Given the description of an element on the screen output the (x, y) to click on. 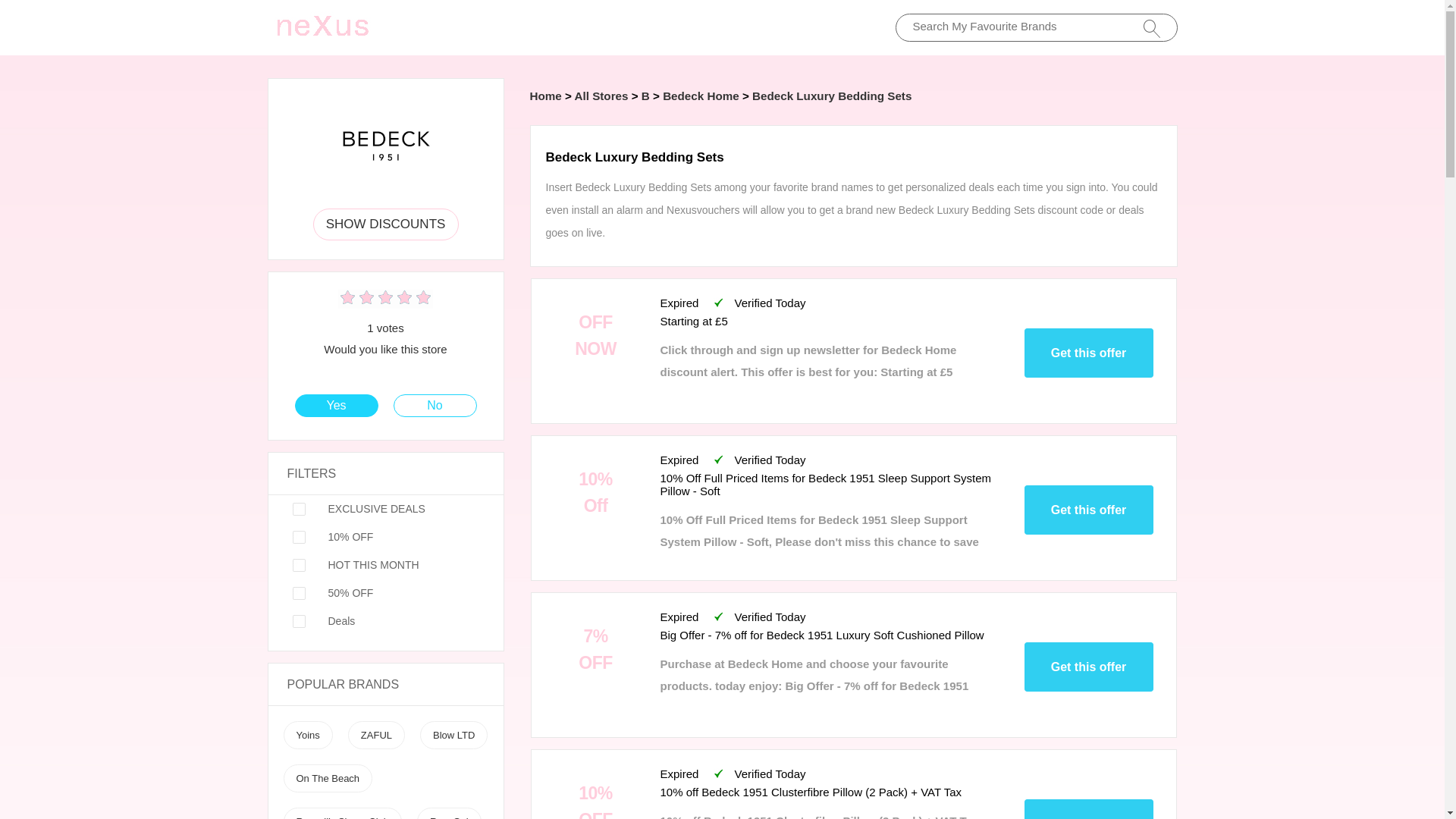
1 star out of 5 (346, 298)
3 star out of 5 (365, 298)
Yes (336, 405)
Blow LTD (453, 735)
Yoins (306, 735)
On The Beach (327, 778)
ZAFUL (376, 735)
RoseGal (448, 817)
SHOW DISCOUNTS (385, 223)
4 star out of 5 (375, 298)
No (435, 405)
2 star out of 5 (356, 298)
5 star out of 5 (384, 298)
